Given the description of an element on the screen output the (x, y) to click on. 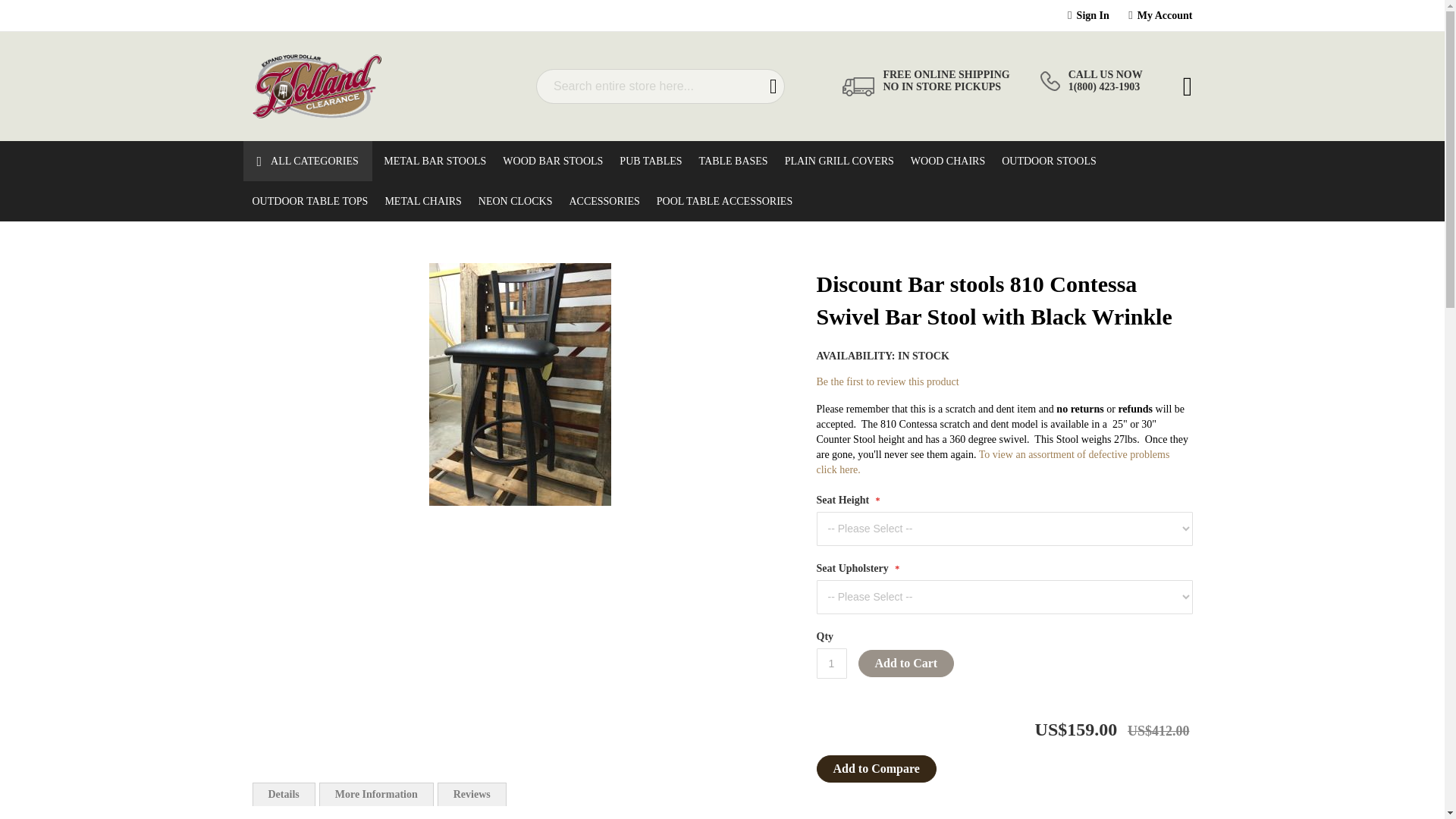
POOL TABLE ACCESSORIES (719, 200)
METAL BAR STOOLS (430, 160)
PLAIN GRILL COVERS (834, 160)
WOOD CHAIRS (943, 160)
Sign In (1093, 15)
ALL CATEGORIES (310, 160)
Qty (830, 663)
METAL CHAIRS (418, 200)
OUTDOOR TABLE TOPS (305, 200)
My Account (1164, 15)
1 (830, 663)
PUB TABLES (645, 160)
To view an assortment of defective problems click here. (992, 461)
Scratch and dent Bar Stools (992, 461)
Availability (882, 355)
